Given the description of an element on the screen output the (x, y) to click on. 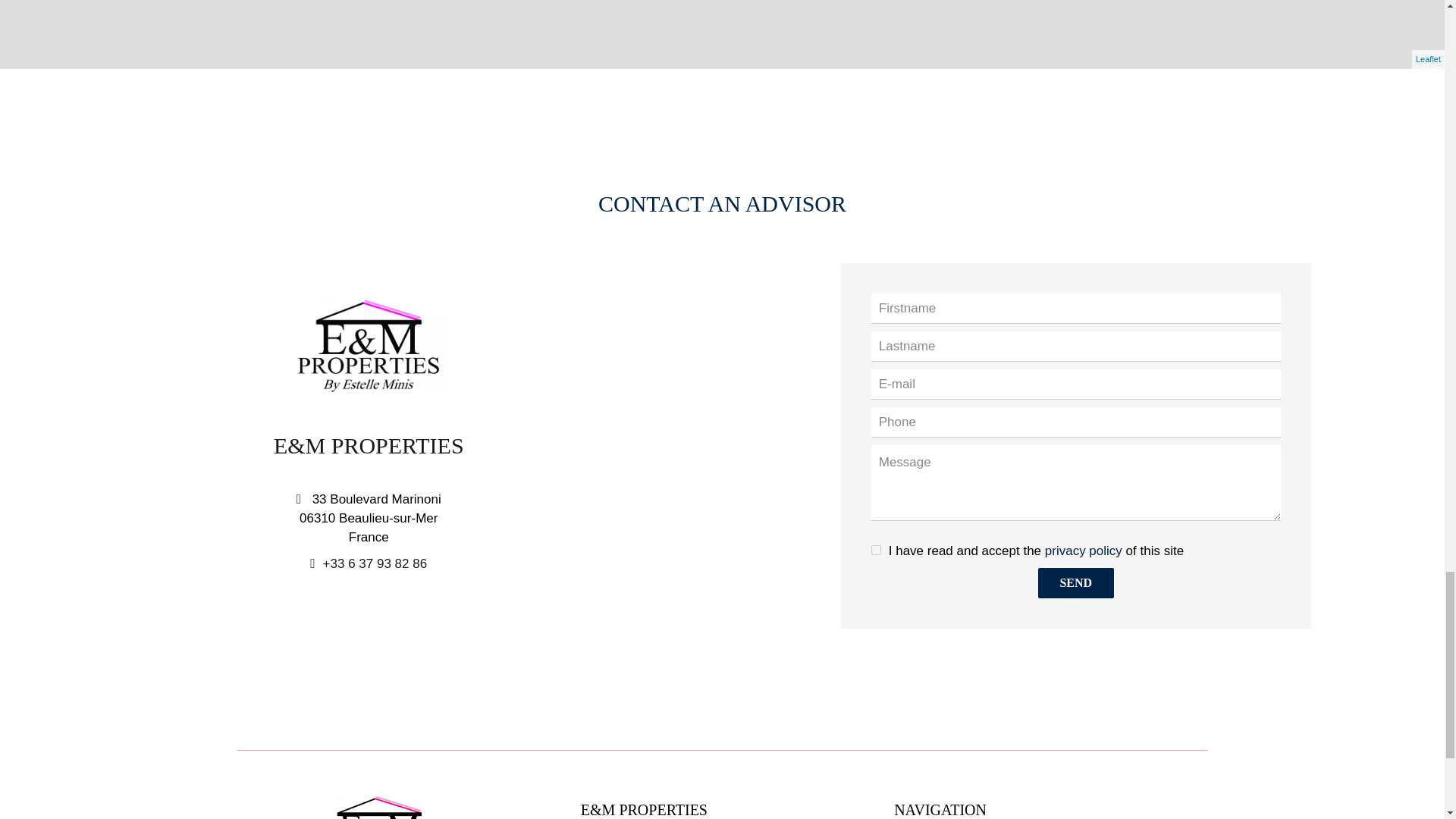
SEND (1075, 583)
A JS library for interactive maps (1428, 58)
privacy policy (1083, 550)
Leaflet (1428, 58)
on (875, 550)
